Given the description of an element on the screen output the (x, y) to click on. 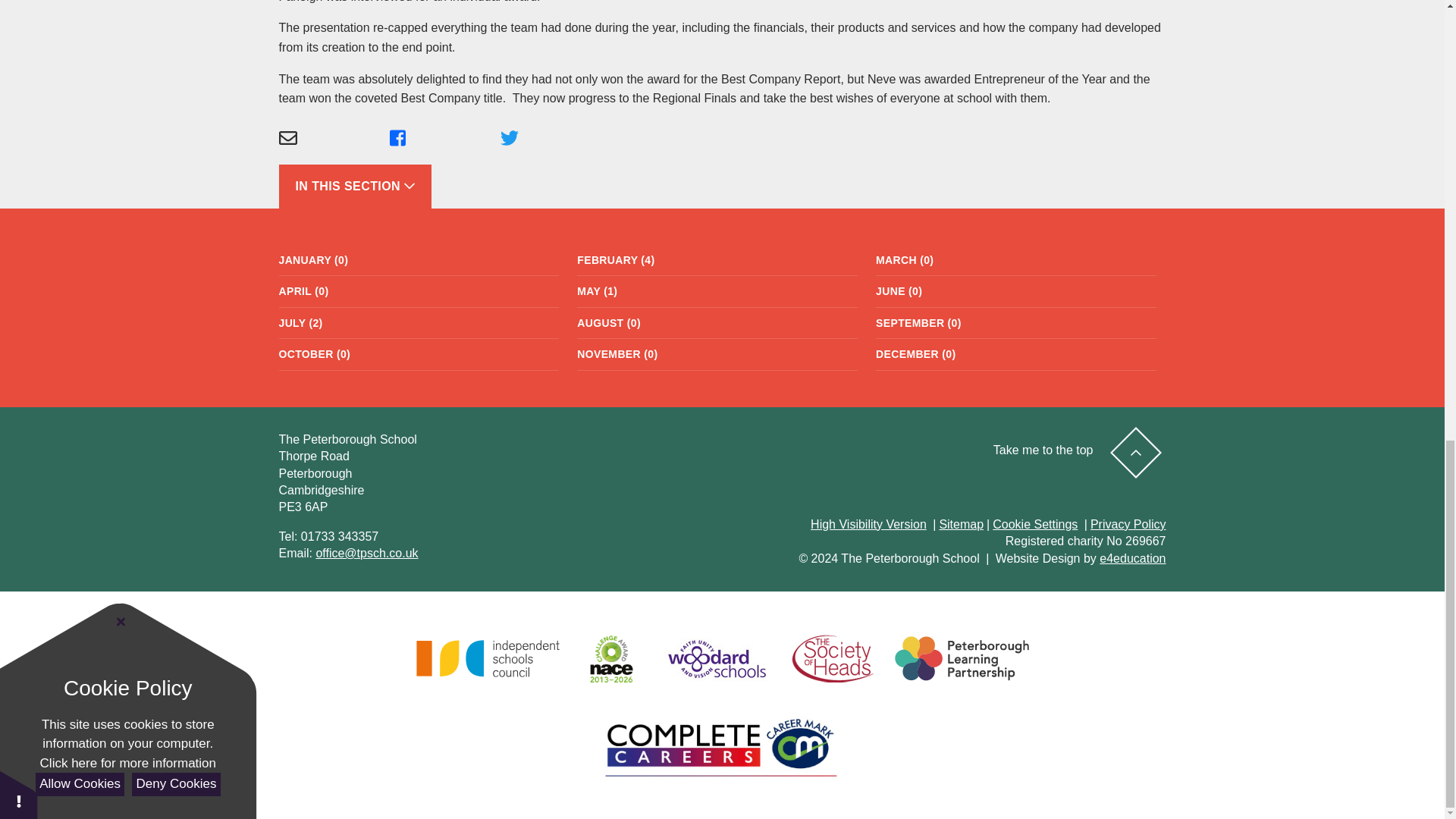
Careers (721, 748)
IN THIS SECTION (354, 186)
ISC (486, 658)
heads (832, 658)
nace (611, 658)
woodard (716, 658)
plp (962, 658)
Cookie Settings (1034, 523)
